Given the description of an element on the screen output the (x, y) to click on. 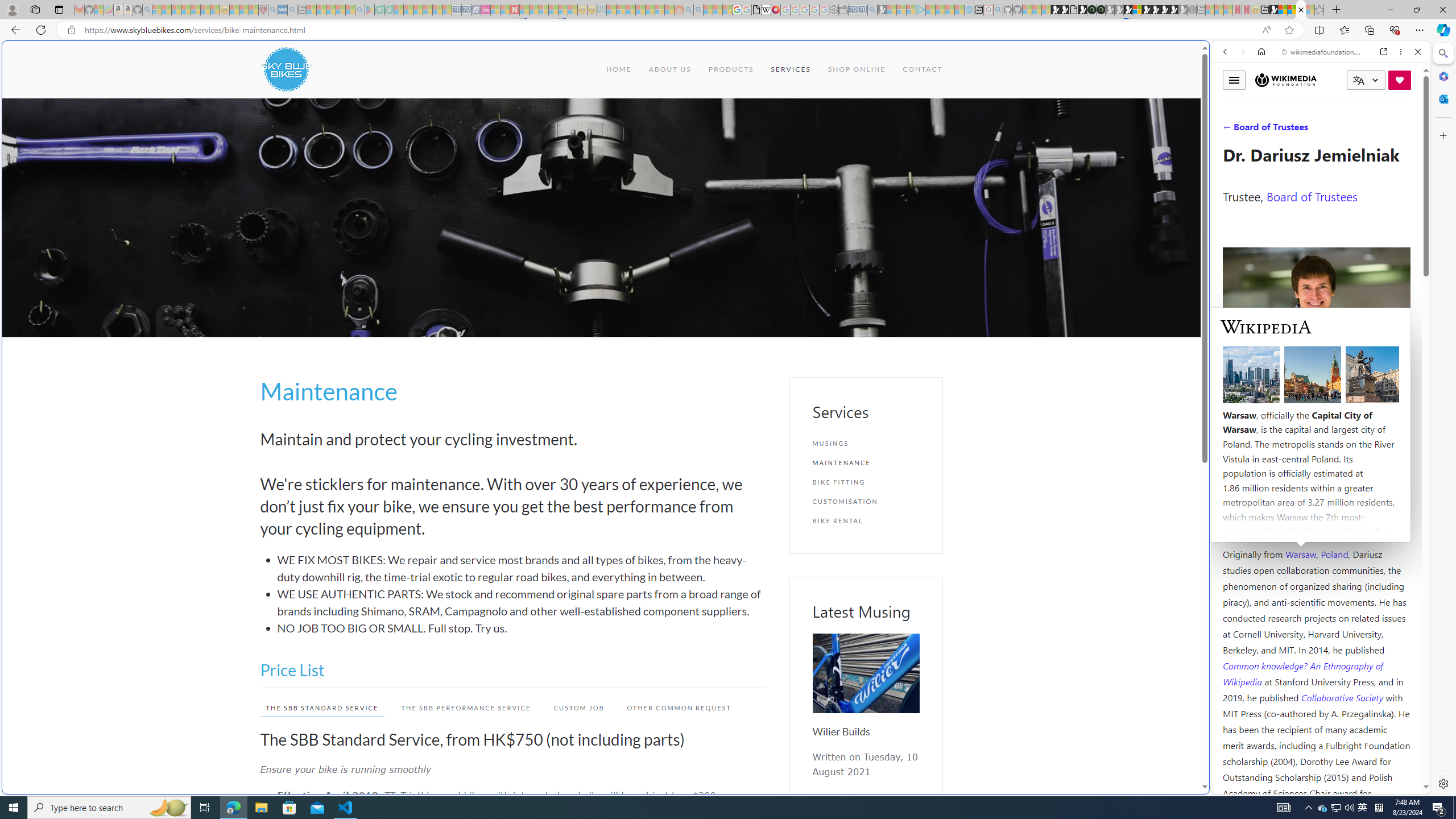
THE SBB STANDARD SERVICE (322, 707)
ABOUT US (669, 68)
Microsoft Start Gaming - Sleeping (881, 9)
Donate now (1399, 80)
Profile on Meta-Wiki (1273, 405)
Jobs - lastminute.com Investor Portal - Sleeping (485, 9)
Wikimedia Foundation (1286, 79)
Search Filter, VIDEOS (1300, 129)
